Given the description of an element on the screen output the (x, y) to click on. 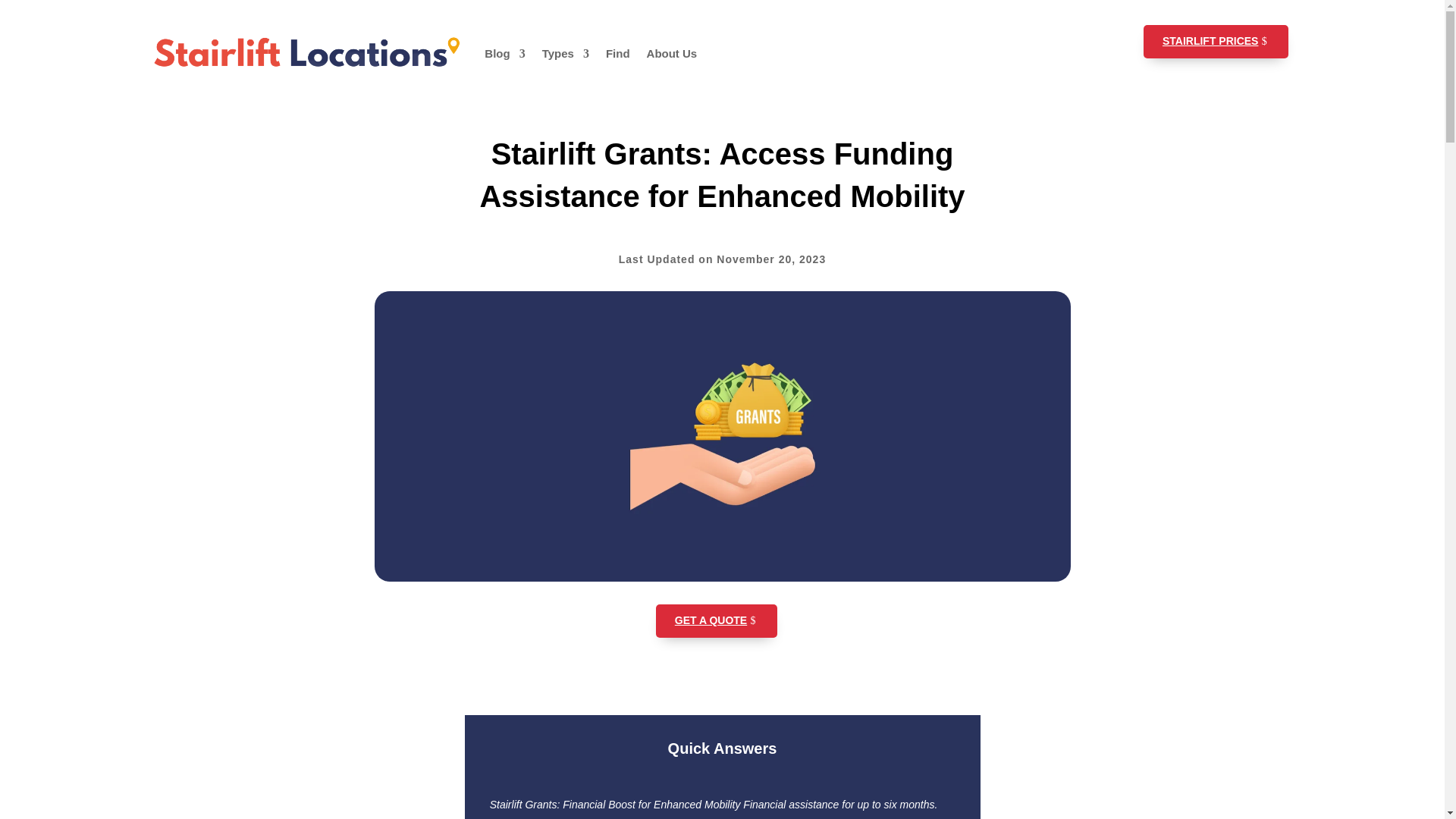
STAIRLIFT PRICES (1215, 41)
GET A QUOTE (716, 621)
